Given the description of an element on the screen output the (x, y) to click on. 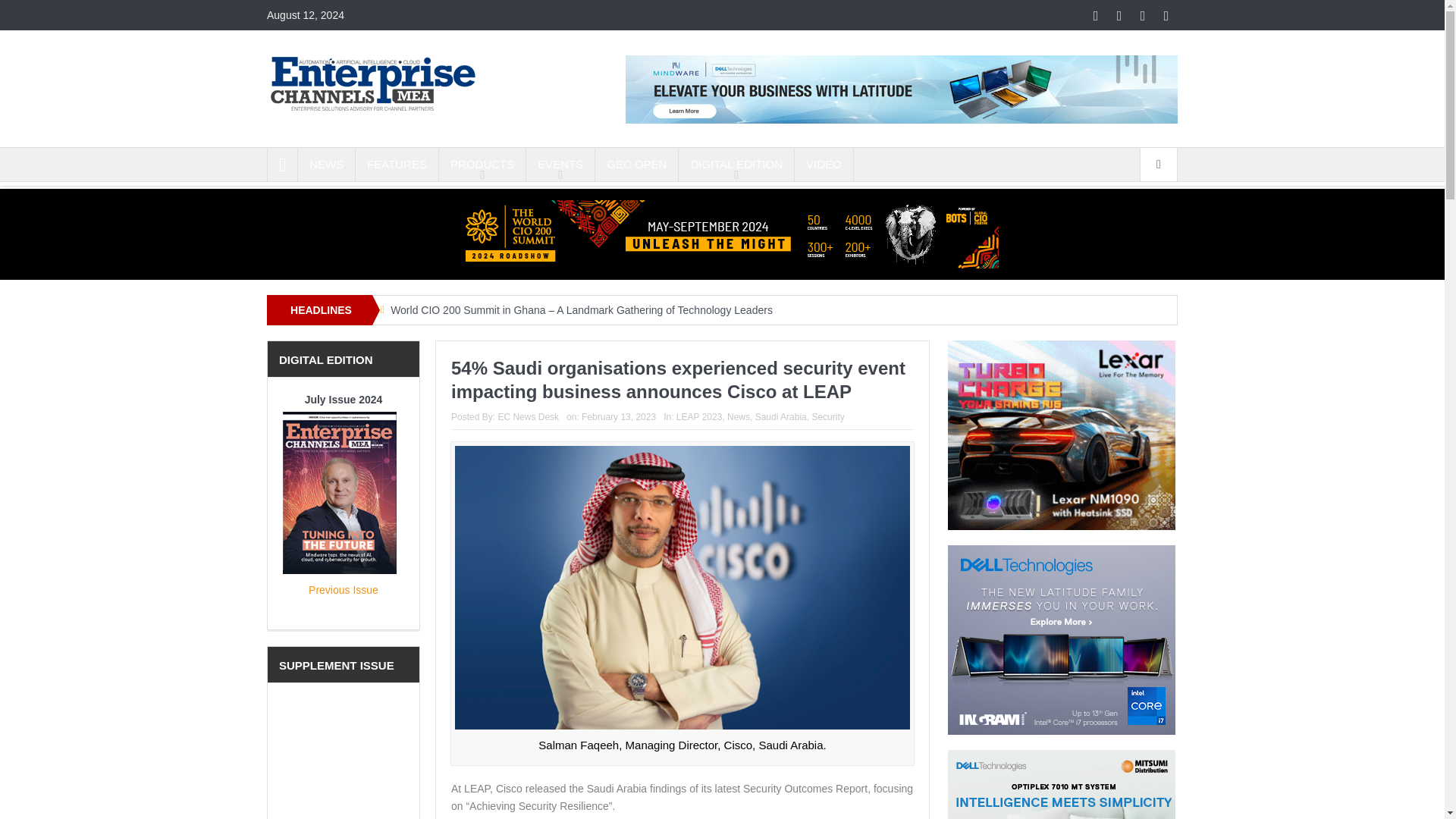
PRODUCTS (482, 164)
FEATURES (396, 164)
EVENTS (559, 164)
View all posts in News (737, 416)
View all posts in Saudi Arabia (780, 416)
View all posts in Security (827, 416)
View all posts in LEAP 2023 (699, 416)
NEWS (326, 164)
